Given the description of an element on the screen output the (x, y) to click on. 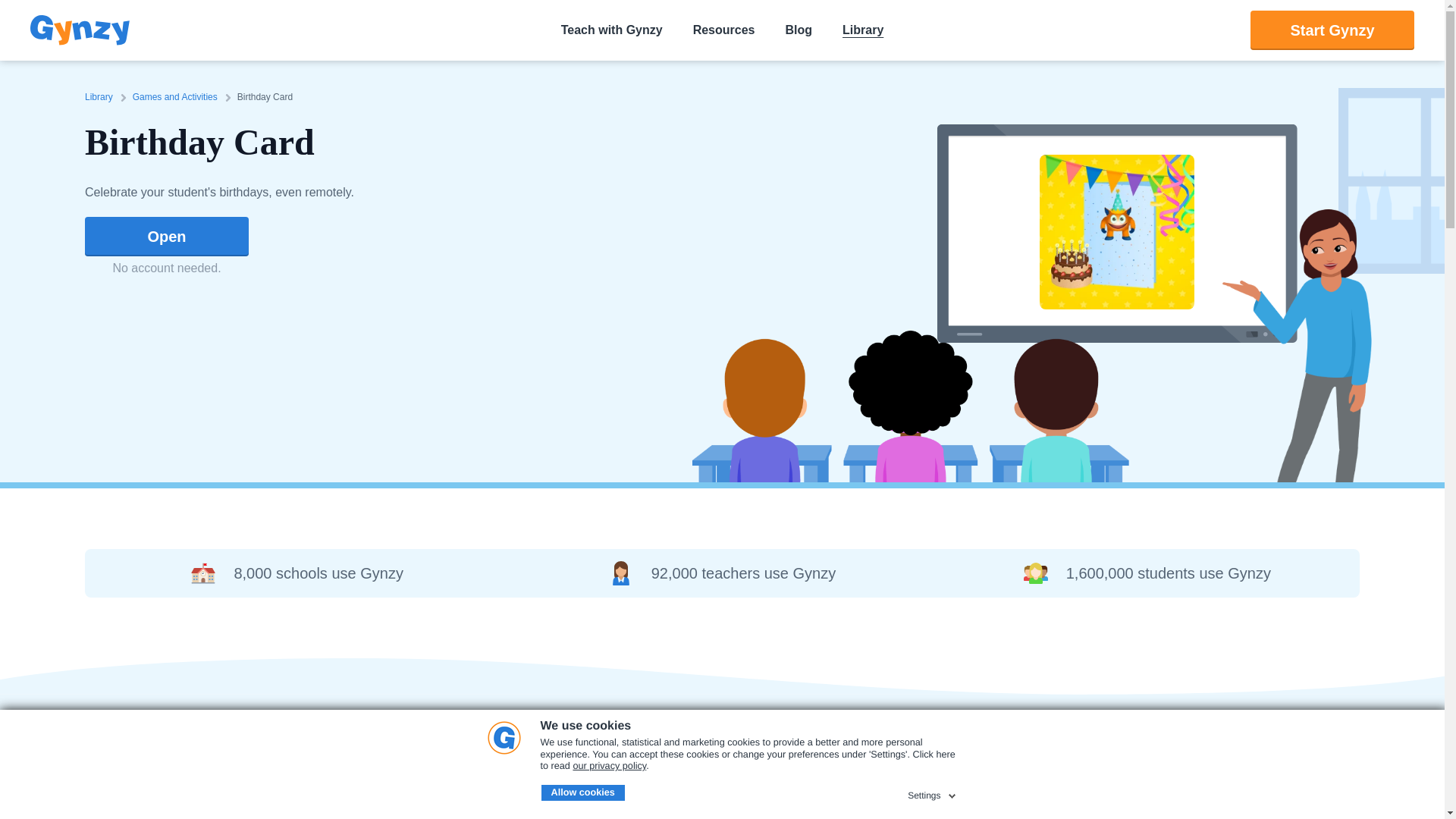
Settings (932, 792)
our privacy policy (609, 765)
Allow cookies (582, 792)
